Given the description of an element on the screen output the (x, y) to click on. 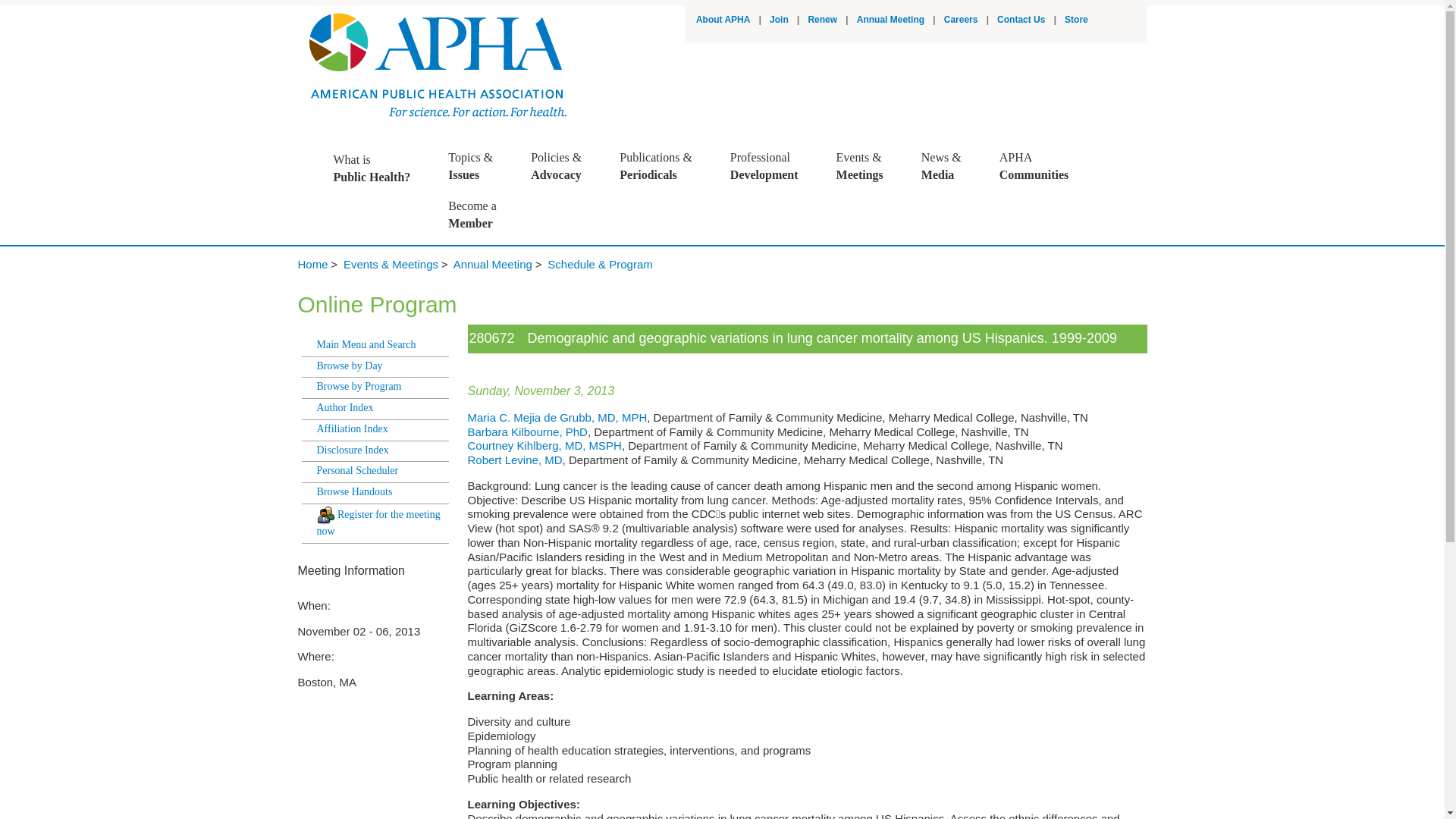
Annual Meeting (378, 169)
Careers (890, 19)
About APHA (960, 19)
Contact Us (772, 166)
Renew (723, 19)
Store (1021, 19)
Join (822, 19)
